Given the description of an element on the screen output the (x, y) to click on. 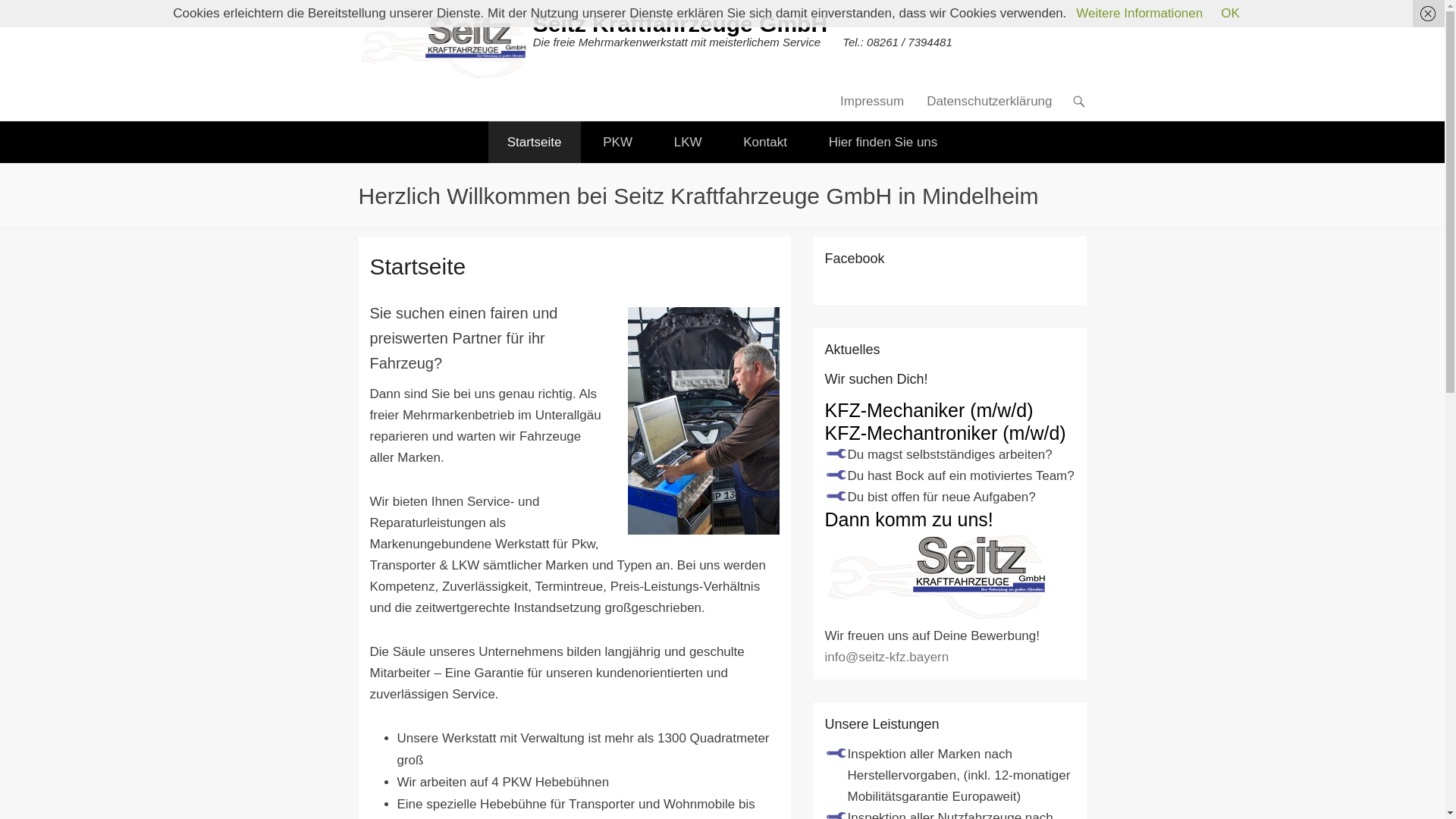
OK Element type: text (1229, 13)
Impressum Element type: text (871, 105)
info@seitz-kfz.bayern Element type: text (887, 656)
Seitz Kraftfahrzeuge GmbH Element type: text (680, 23)
Startseite Element type: text (534, 142)
Kontakt Element type: text (765, 142)
PKW Element type: text (617, 142)
Startseite Element type: text (418, 266)
LKW Element type: text (688, 142)
Hier finden Sie uns Element type: text (883, 142)
Zum Inhalt springen Element type: text (889, 101)
Weitere Informationen Element type: text (1139, 13)
